Given the description of an element on the screen output the (x, y) to click on. 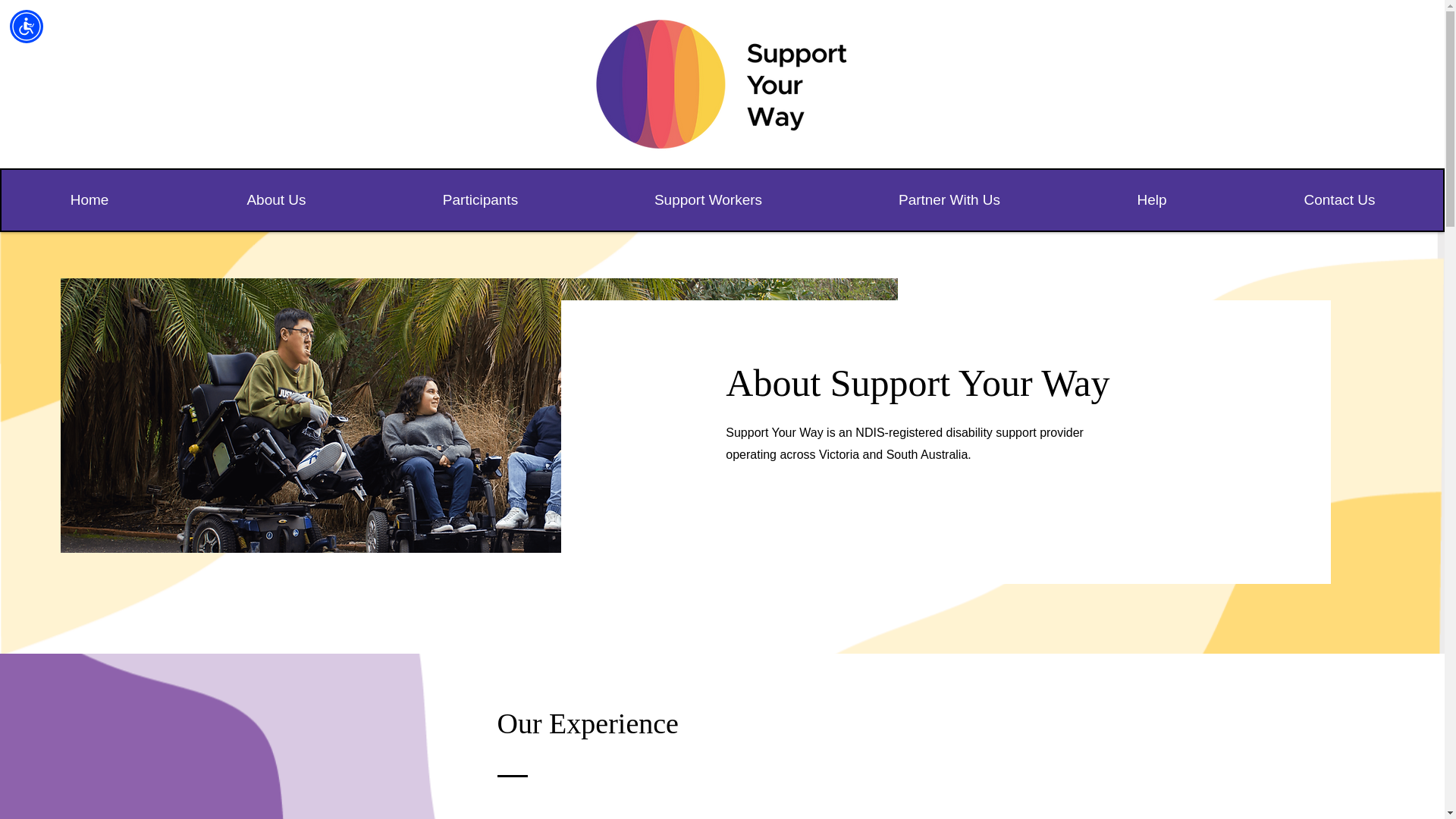
Home (89, 199)
Accessibility Menu (26, 26)
Help (1150, 199)
Support Workers (707, 199)
Partner With Us (948, 199)
About Us (275, 199)
Participants (479, 199)
Contact Us (1338, 199)
